Given the description of an element on the screen output the (x, y) to click on. 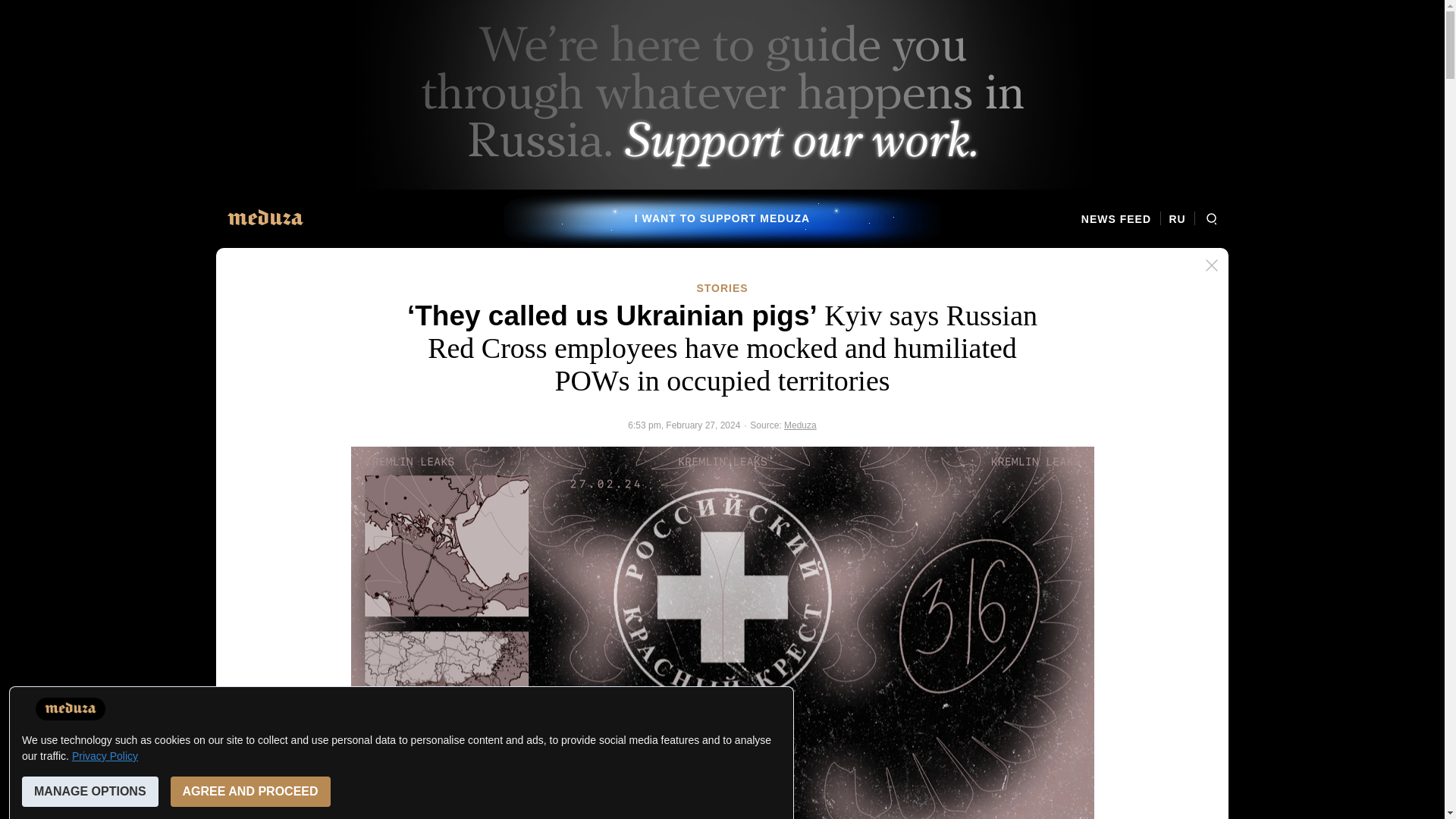
Meduza (800, 425)
RU (1176, 218)
NEWS FEED (1120, 218)
Privacy Policy (104, 756)
MANAGE OPTIONS (89, 791)
AGREE AND PROCEED (250, 791)
I WANT TO SUPPORT MEDUZA (722, 218)
